Given the description of an element on the screen output the (x, y) to click on. 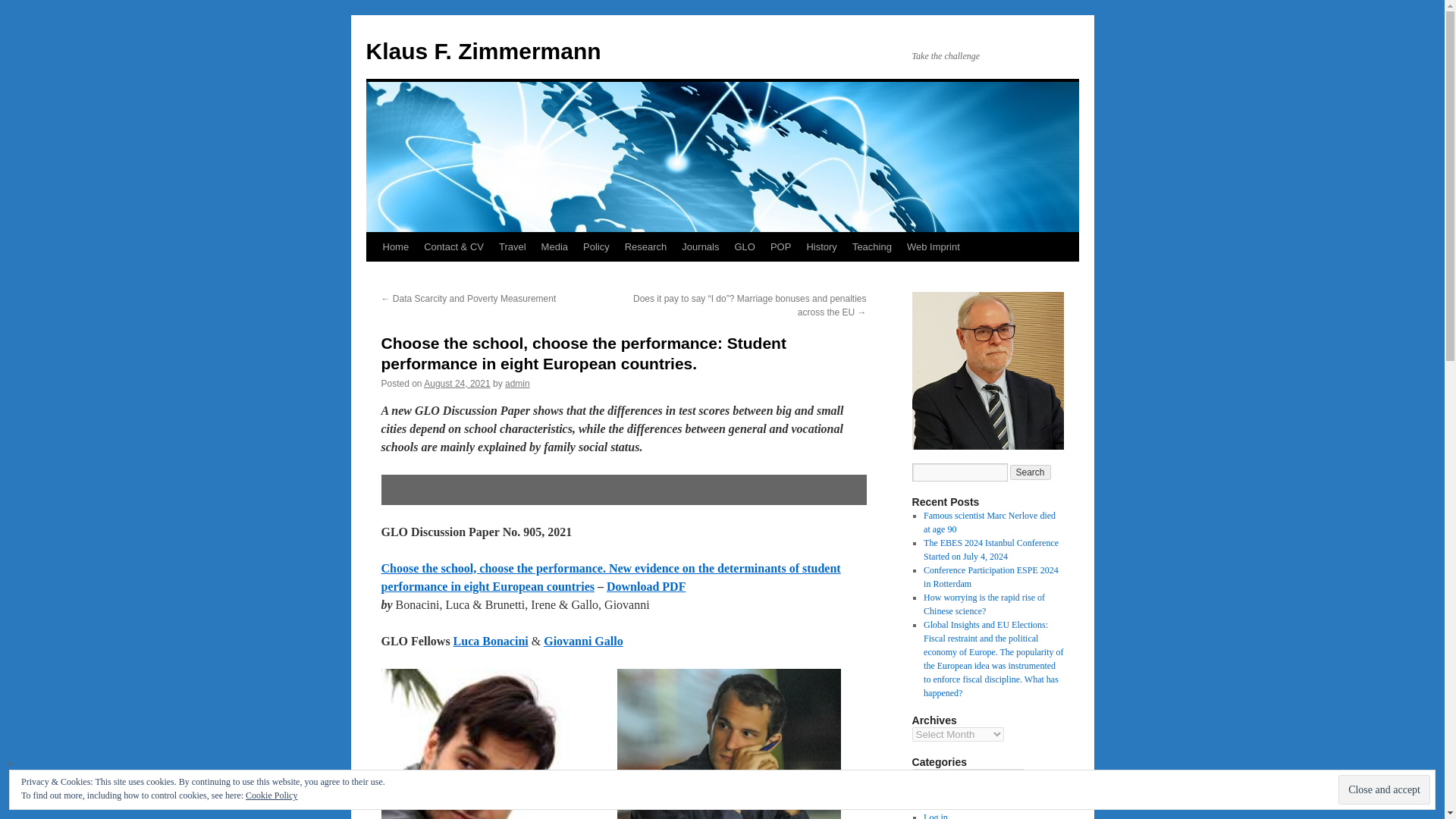
History (820, 246)
Travel (513, 246)
Teaching (871, 246)
Klaus F. Zimmermann (482, 50)
POP (779, 246)
admin (517, 383)
GLO (743, 246)
1:00 pm (456, 383)
Media (554, 246)
Download PDF (646, 585)
